Given the description of an element on the screen output the (x, y) to click on. 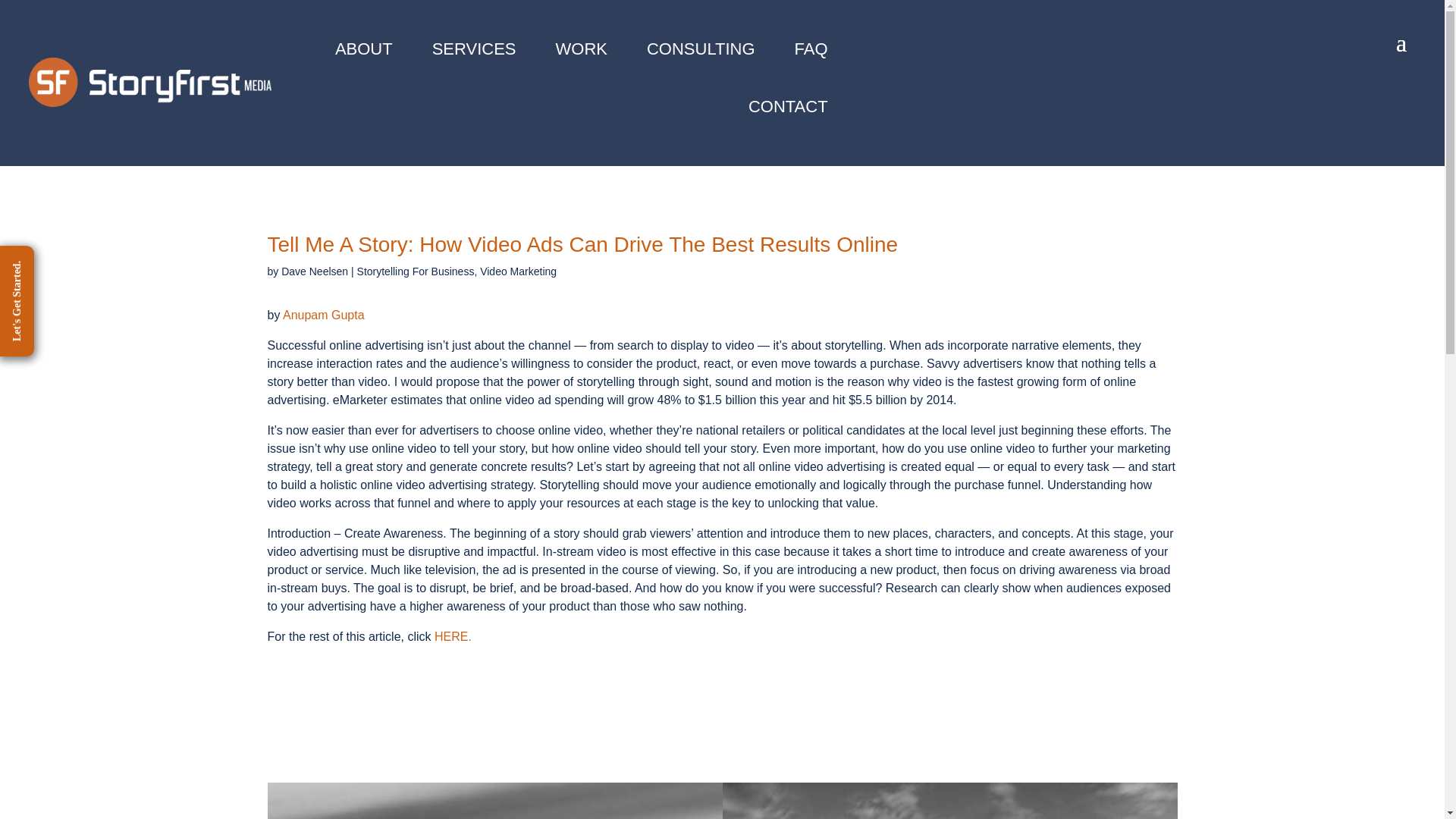
Video Marketing (518, 271)
WORK (581, 48)
CONTACT (788, 106)
Posts by Dave Neelsen (314, 271)
Storytelling For Business (415, 271)
Dave Neelsen (314, 271)
SERVICES (474, 48)
FAQ (811, 48)
CONSULTING (700, 48)
HERE. (452, 635)
ABOUT (363, 48)
Anupam Gupta (323, 314)
